Given the description of an element on the screen output the (x, y) to click on. 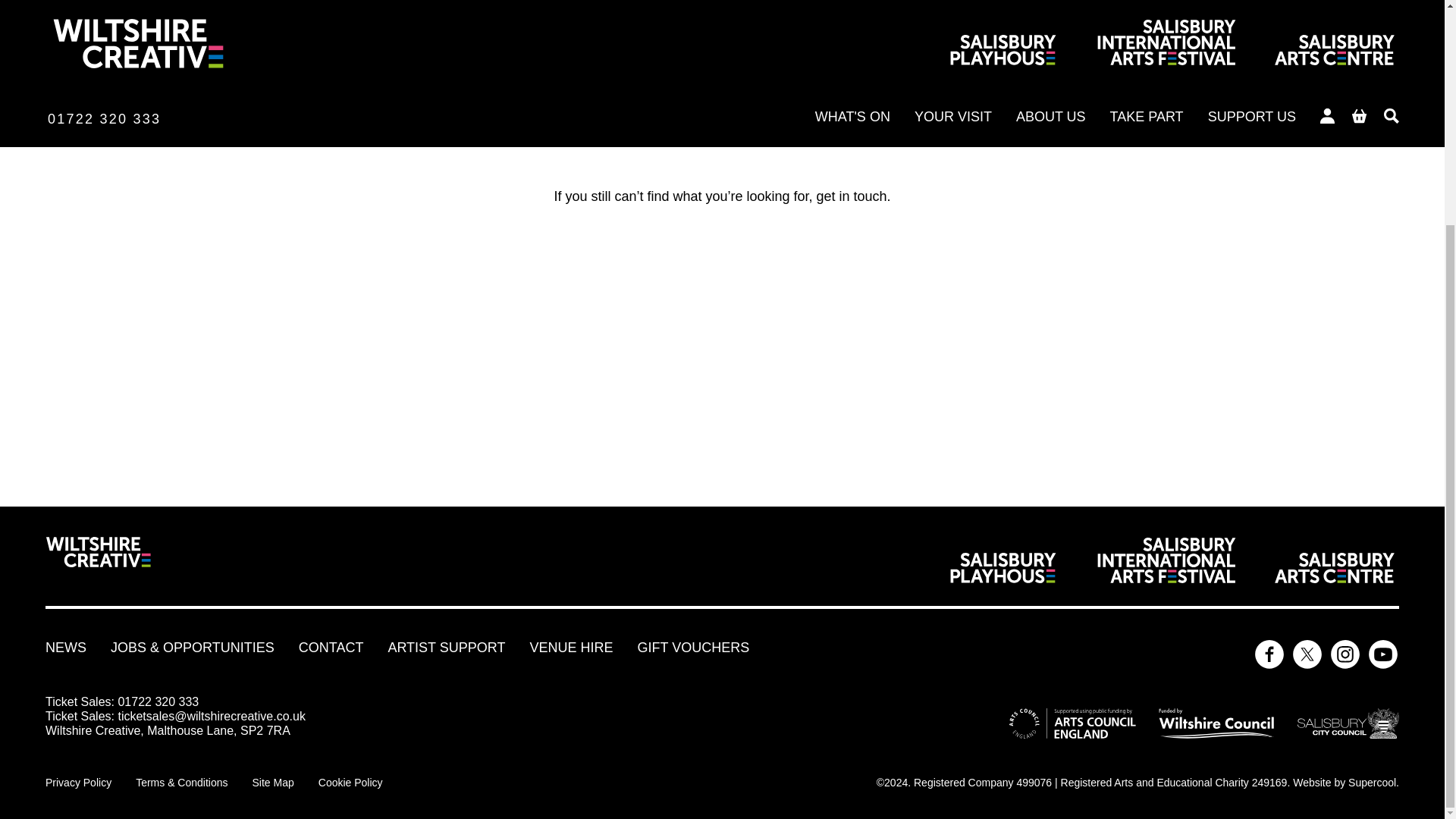
GIFT VOUCHERS (693, 647)
ARTIST SUPPORT (446, 647)
TAKE PART (813, 133)
Privacy Policy (78, 782)
Site Map (272, 782)
Instagram (1345, 655)
CONTACT (331, 647)
Twitter (1307, 655)
SUPPORT US (918, 133)
Wiltshire Creative (98, 560)
